Given the description of an element on the screen output the (x, y) to click on. 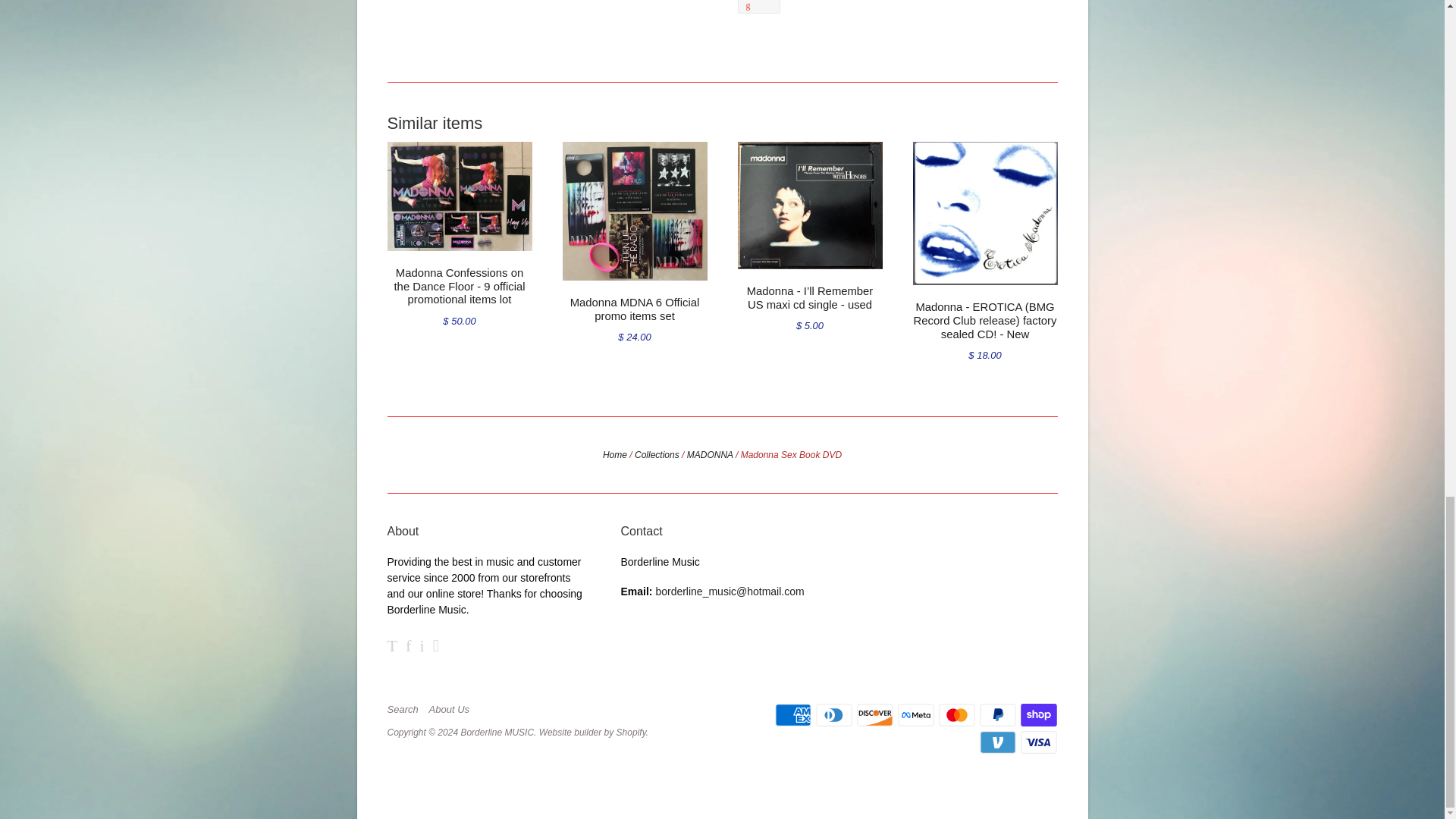
Collections (656, 454)
Search (406, 709)
MADONNA (710, 454)
Search (406, 709)
About Us (453, 709)
Madonna MDNA 6 Official promo items set (635, 309)
Home (614, 454)
